Given the description of an element on the screen output the (x, y) to click on. 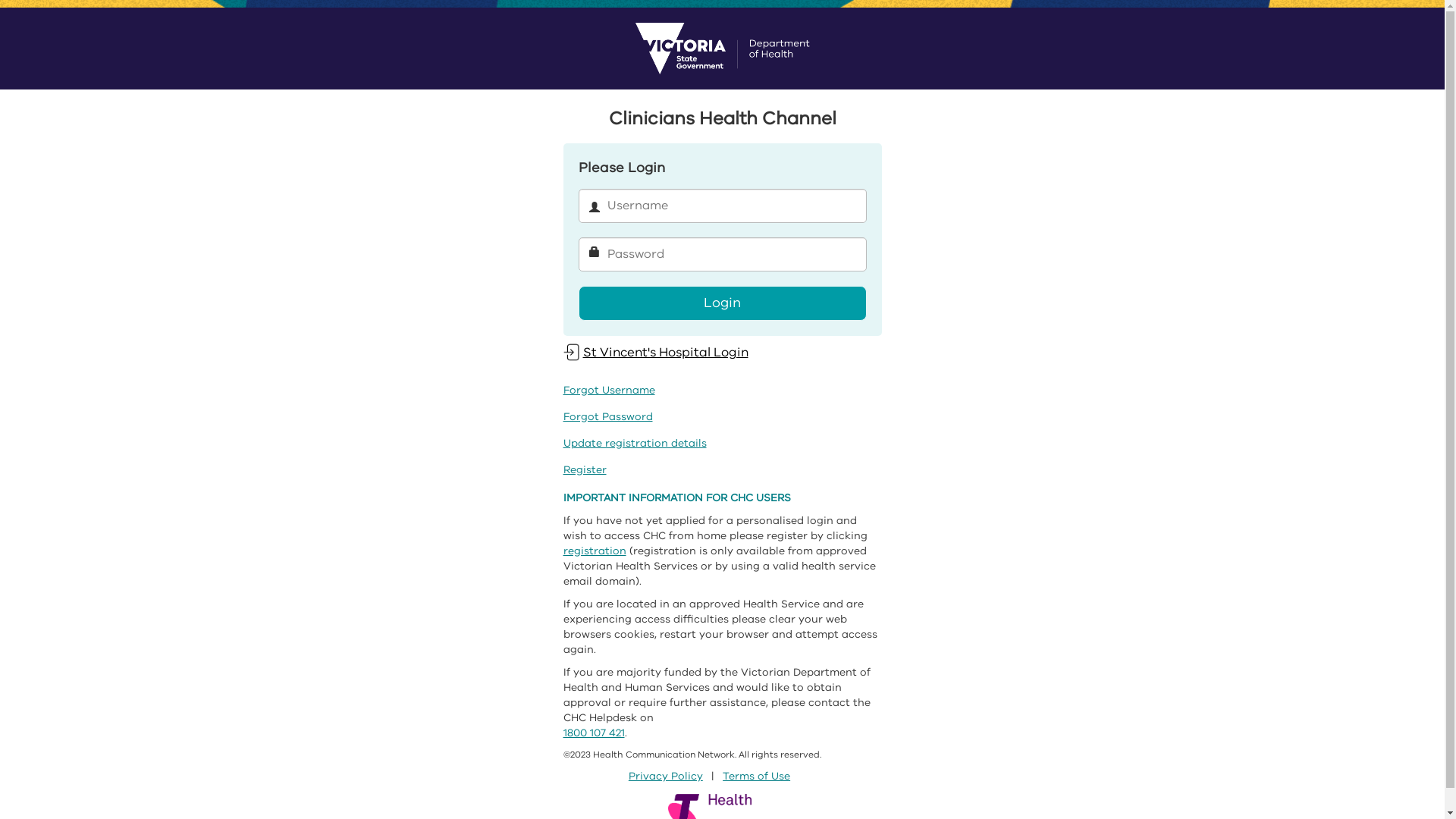
Forgot Username Element type: text (608, 389)
Login Element type: text (721, 302)
registration Element type: text (593, 550)
Privacy Policy Element type: text (665, 775)
Terms of Use Element type: text (756, 775)
Forgot Password Element type: text (607, 416)
Register Element type: text (583, 469)
Update registration details Element type: text (634, 443)
1800 107 421 Element type: text (593, 732)
St Vincent's Hospital Login Element type: text (654, 351)
